Given the description of an element on the screen output the (x, y) to click on. 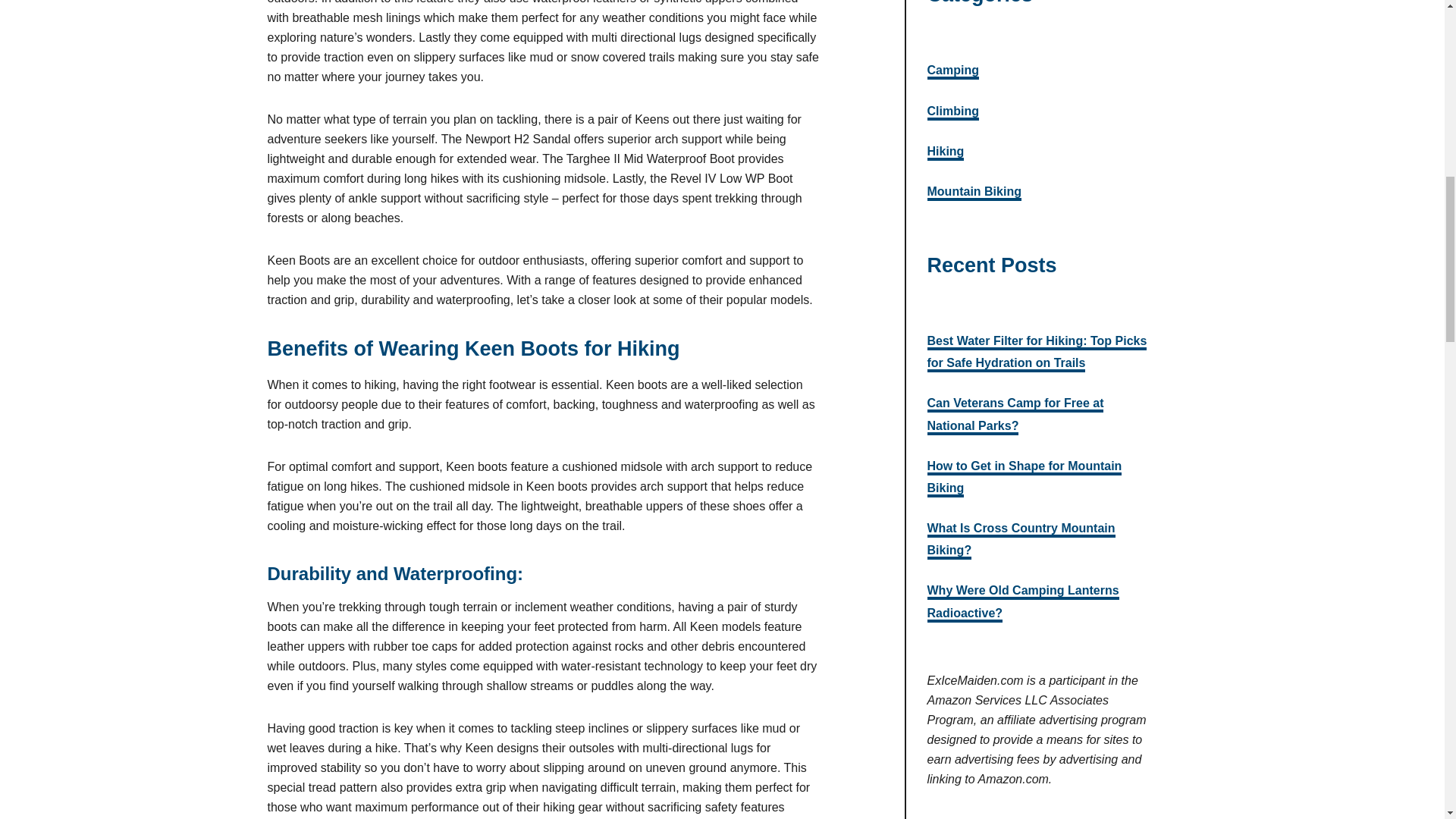
Camping (952, 71)
What Is Cross Country Mountain Biking? (1020, 540)
Climbing (952, 112)
How to Get in Shape for Mountain Biking (1023, 478)
Can Veterans Camp for Free at National Parks? (1014, 415)
Why Were Old Camping Lanterns Radioactive? (1022, 602)
Hiking (944, 152)
Mountain Biking (973, 192)
